Given the description of an element on the screen output the (x, y) to click on. 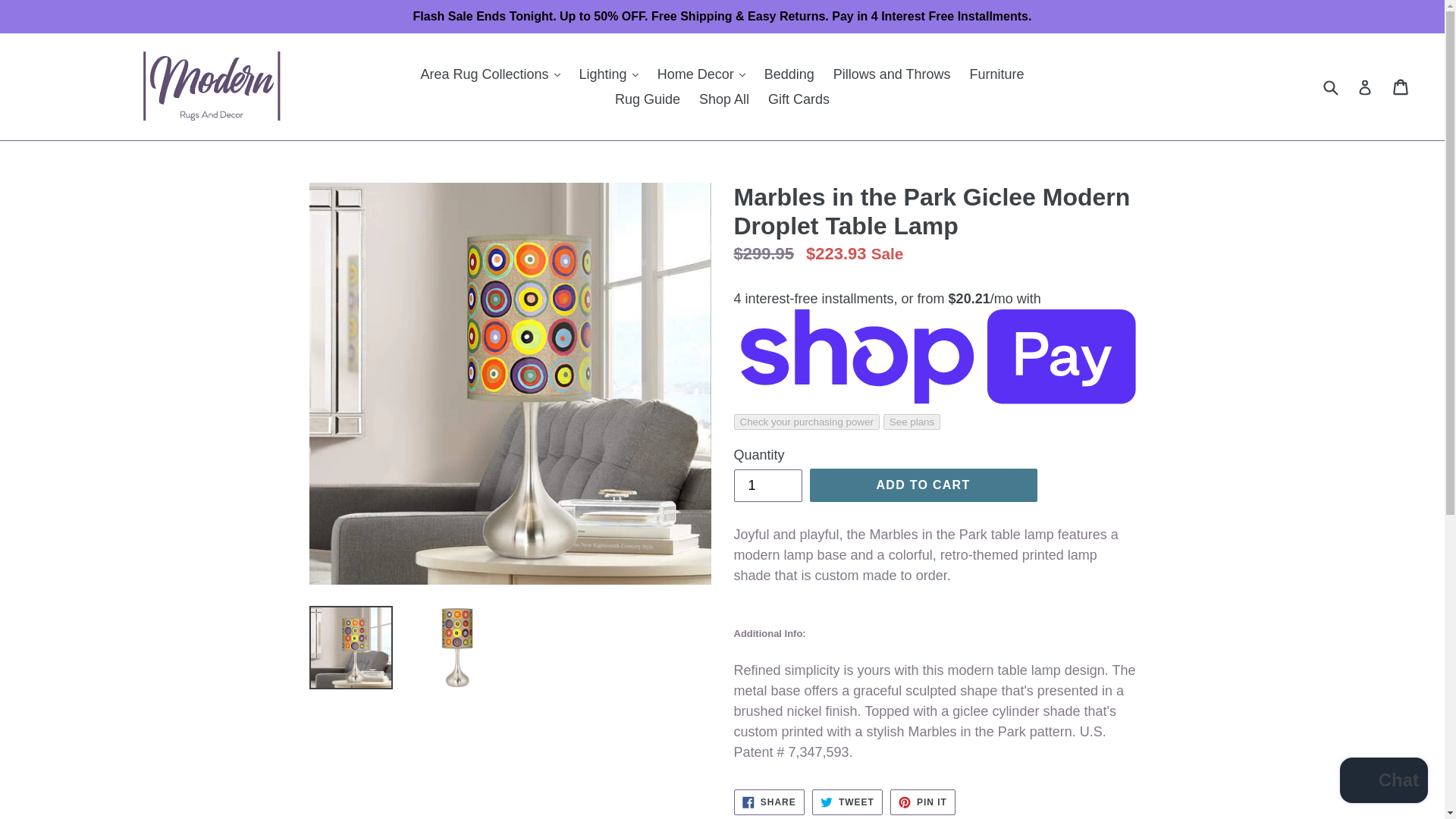
Shopify online store chat (1383, 781)
Pin on Pinterest (922, 801)
1 (767, 485)
Tweet on Twitter (847, 801)
Share on Facebook (769, 801)
